Given the description of an element on the screen output the (x, y) to click on. 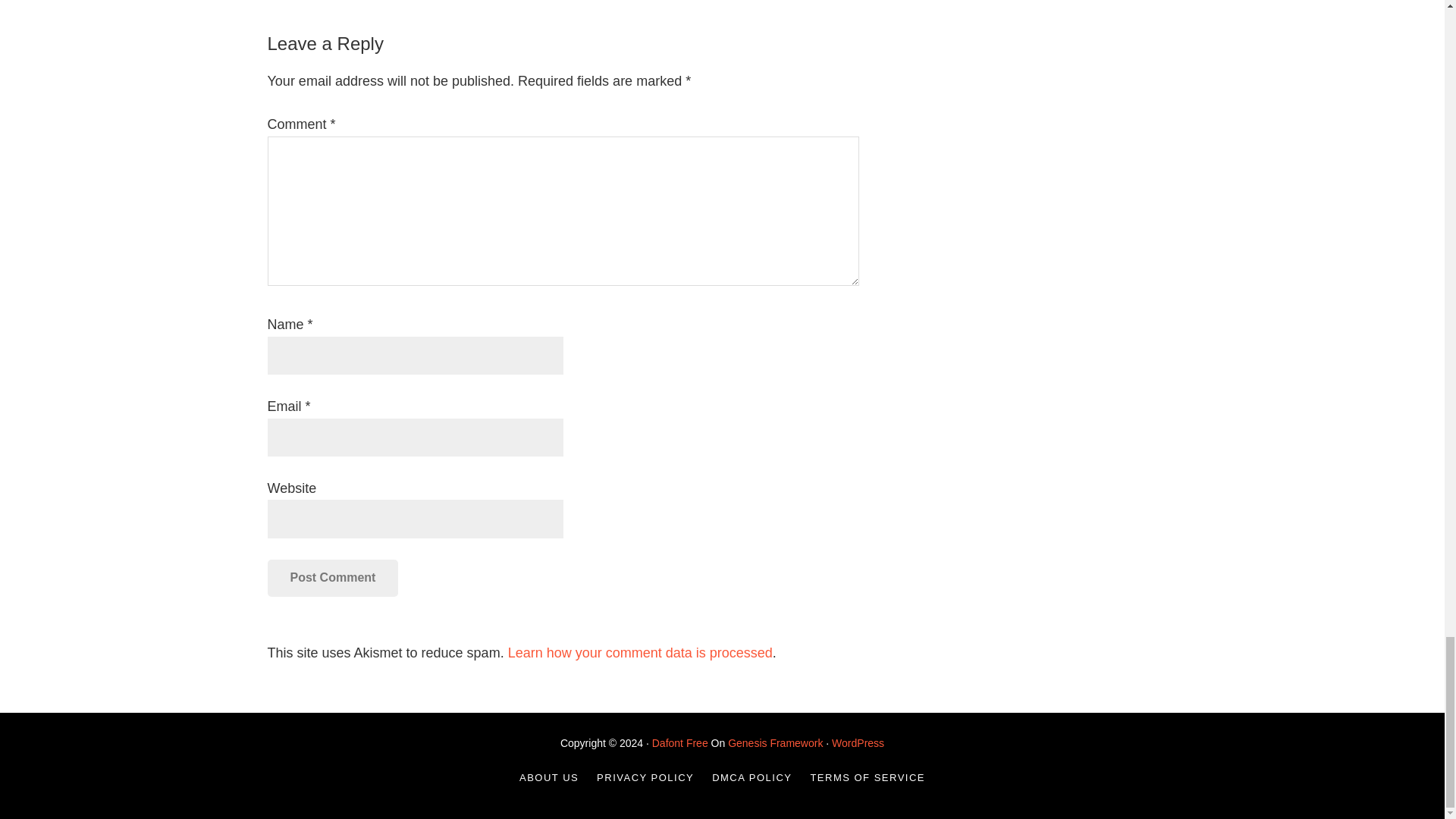
Learn how your comment data is processed (640, 652)
Post Comment (331, 577)
Post Comment (331, 577)
